Given the description of an element on the screen output the (x, y) to click on. 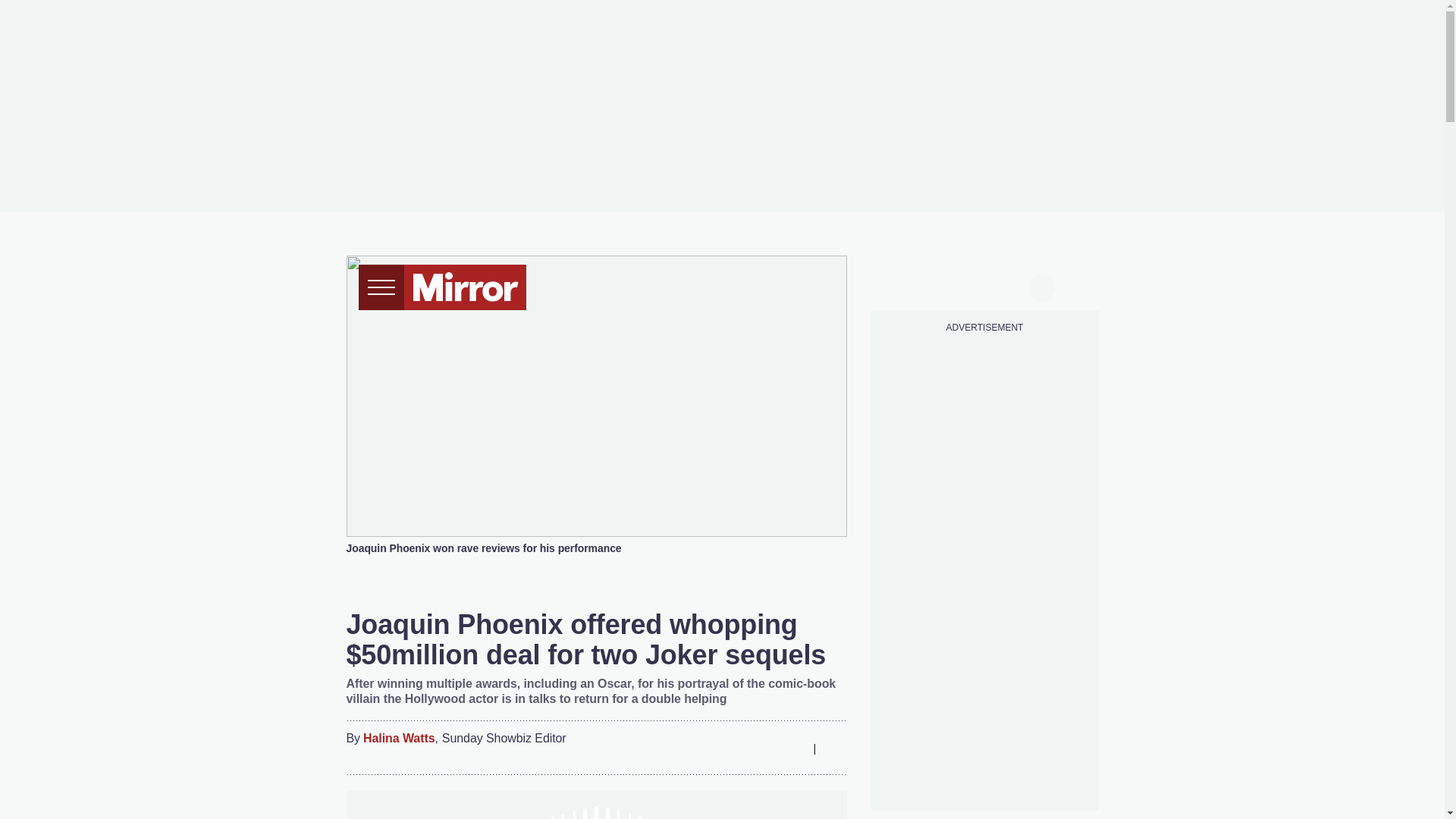
Halina Watts (397, 738)
facebook (897, 285)
tiktok (955, 285)
Whatsapp (763, 748)
snapchat (1012, 285)
Comments (834, 748)
Twitter (733, 748)
Facebook (702, 748)
twitter (926, 285)
instagram (984, 285)
